Given the description of an element on the screen output the (x, y) to click on. 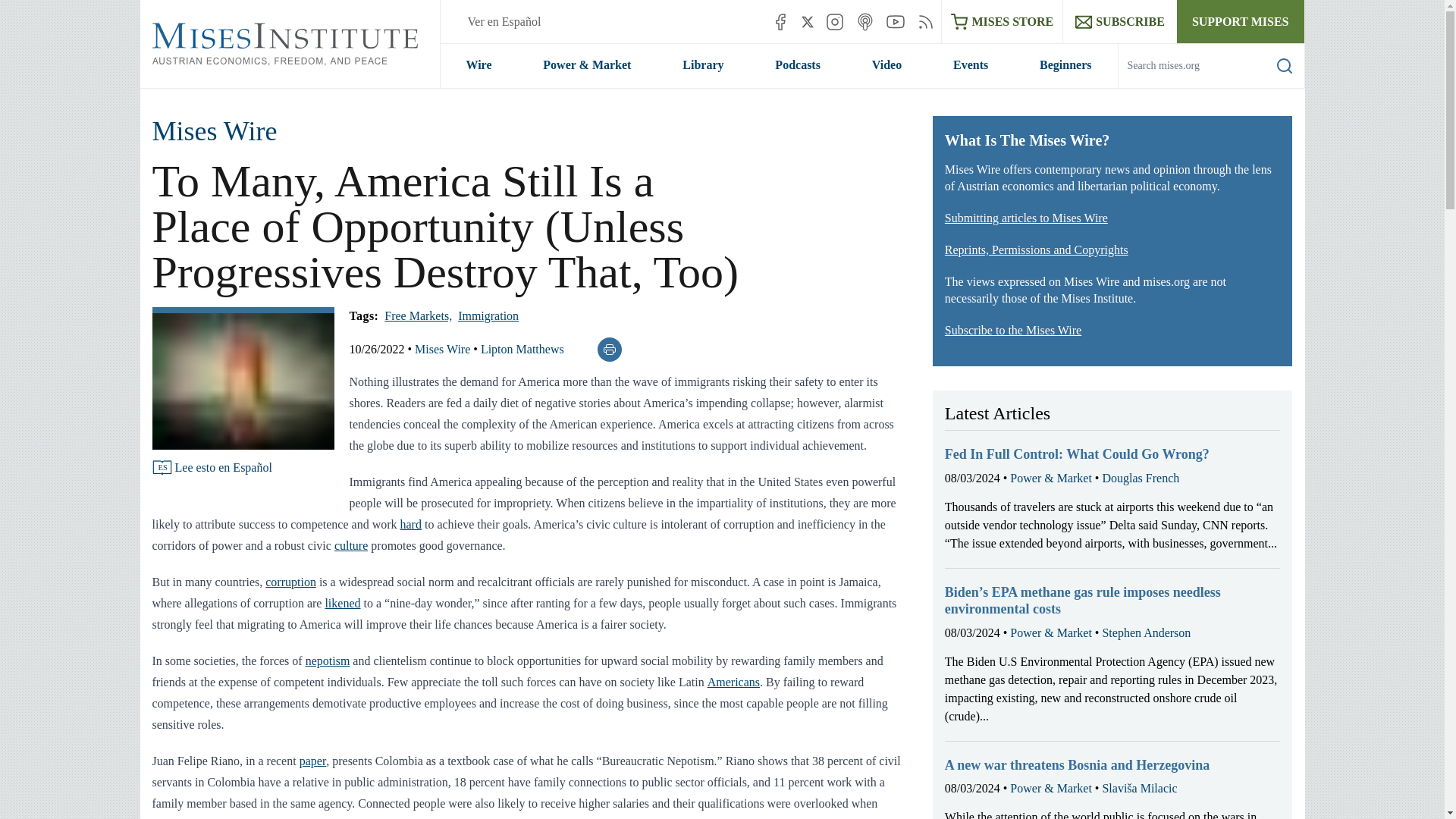
Mises RSS feed (925, 21)
Mises X (807, 21)
Library (702, 65)
Video (886, 65)
Mises itunes (865, 21)
SUBSCRIBE (1119, 21)
MISES STORE (1002, 21)
Events (970, 65)
Wire (477, 65)
Search (1284, 65)
SUPPORT MISES (1240, 21)
Beginners (1064, 65)
Submit (1272, 87)
Mises Youtube (895, 21)
Podcasts (797, 65)
